Given the description of an element on the screen output the (x, y) to click on. 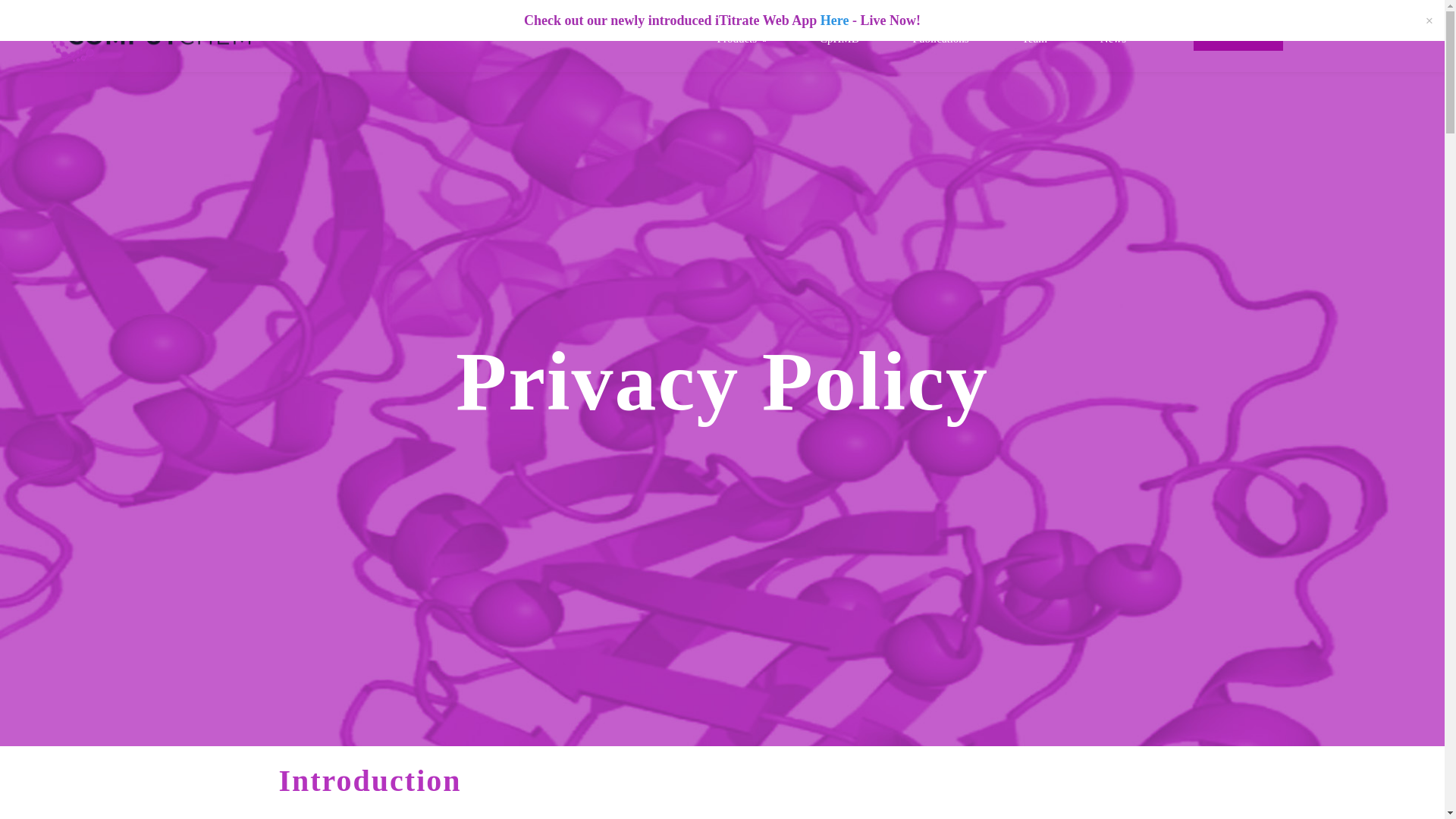
logo (151, 36)
Products (742, 35)
Publications (940, 35)
Here (834, 20)
Contact Us (1237, 36)
